Given the description of an element on the screen output the (x, y) to click on. 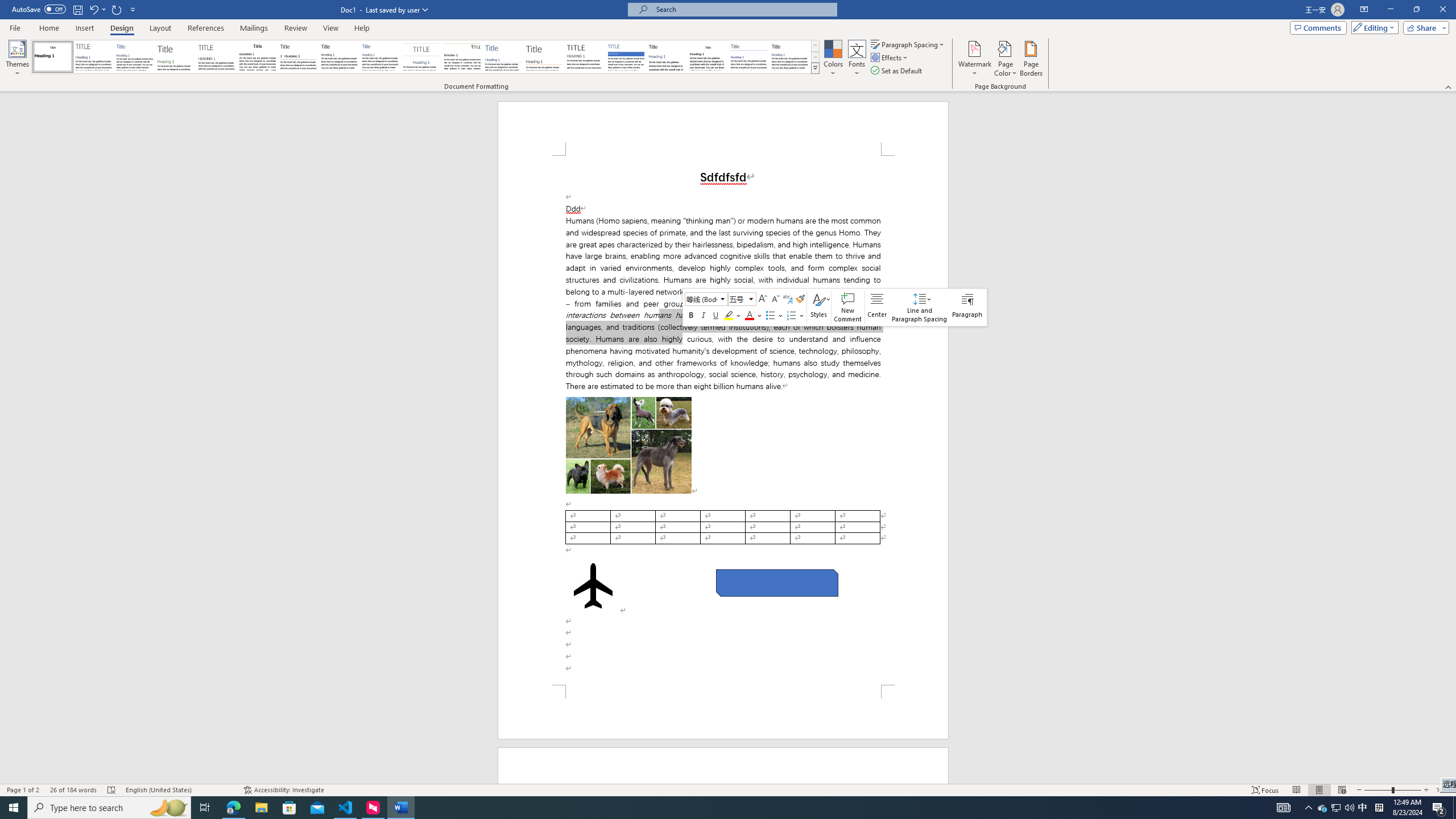
Paragraph Spacing (908, 44)
Watermark (974, 58)
Word 2003 (707, 56)
Morphological variation in six dogs (628, 445)
Shrink Font (774, 299)
Font Color (754, 315)
Microsoft search (742, 9)
Set as Default (897, 69)
Style Set (814, 67)
Casual (379, 56)
